Given the description of an element on the screen output the (x, y) to click on. 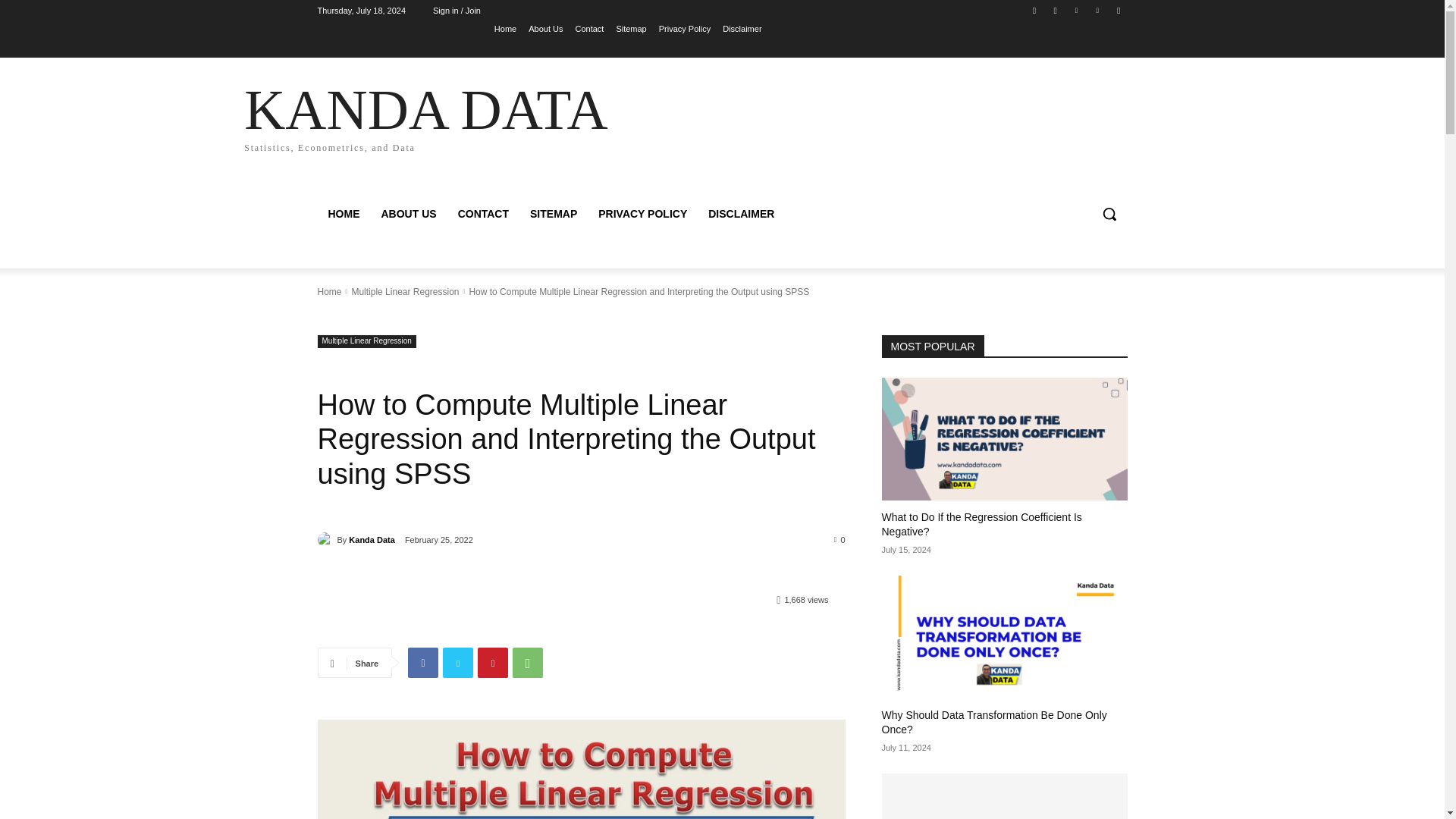
View all posts in Multiple Linear Regression (404, 291)
DISCLAIMER (740, 213)
WhatsApp (425, 115)
Youtube (527, 662)
Home (1117, 9)
PIC 18 (505, 28)
PRIVACY POLICY (580, 769)
Kanda Data (642, 213)
Facebook (326, 539)
Multiple Linear Regression (1034, 9)
Instagram (365, 341)
Disclaimer (1055, 9)
Multiple Linear Regression (741, 28)
Pinterest (404, 291)
